Given the description of an element on the screen output the (x, y) to click on. 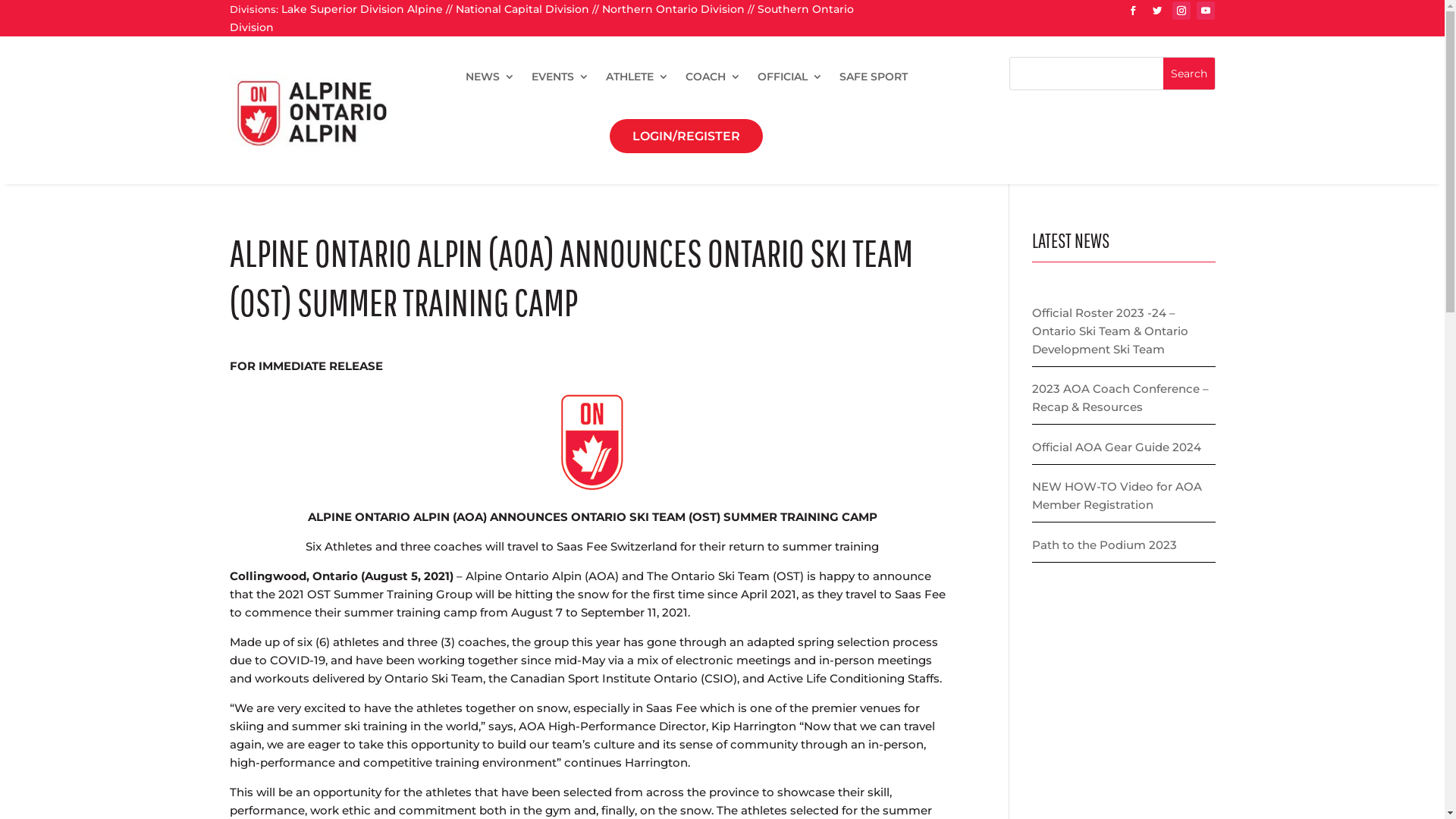
Lake Superior Division Alpine Element type: text (361, 8)
SAFE SPORT Element type: text (873, 76)
EVENTS Element type: text (560, 76)
OFFICIAL Element type: text (789, 76)
Follow on Youtube Element type: hover (1205, 10)
Northern Ontario Division Element type: text (673, 8)
NEWS Element type: text (489, 76)
Southern Ontario Division Element type: text (541, 18)
Follow on Instagram Element type: hover (1181, 10)
LOGIN/REGISTER Element type: text (685, 136)
COACH Element type: text (712, 76)
Search Element type: text (1188, 73)
NEW HOW-TO Video for AOA Member Registration Element type: text (1116, 495)
Official AOA Gear Guide 2024 Element type: text (1116, 446)
Path to the Podium 2023 Element type: text (1104, 544)
ATHLETE Element type: text (636, 76)
Follow on Twitter Element type: hover (1157, 10)
National Capital Division Element type: text (521, 8)
Follow on Facebook Element type: hover (1132, 10)
